Given the description of an element on the screen output the (x, y) to click on. 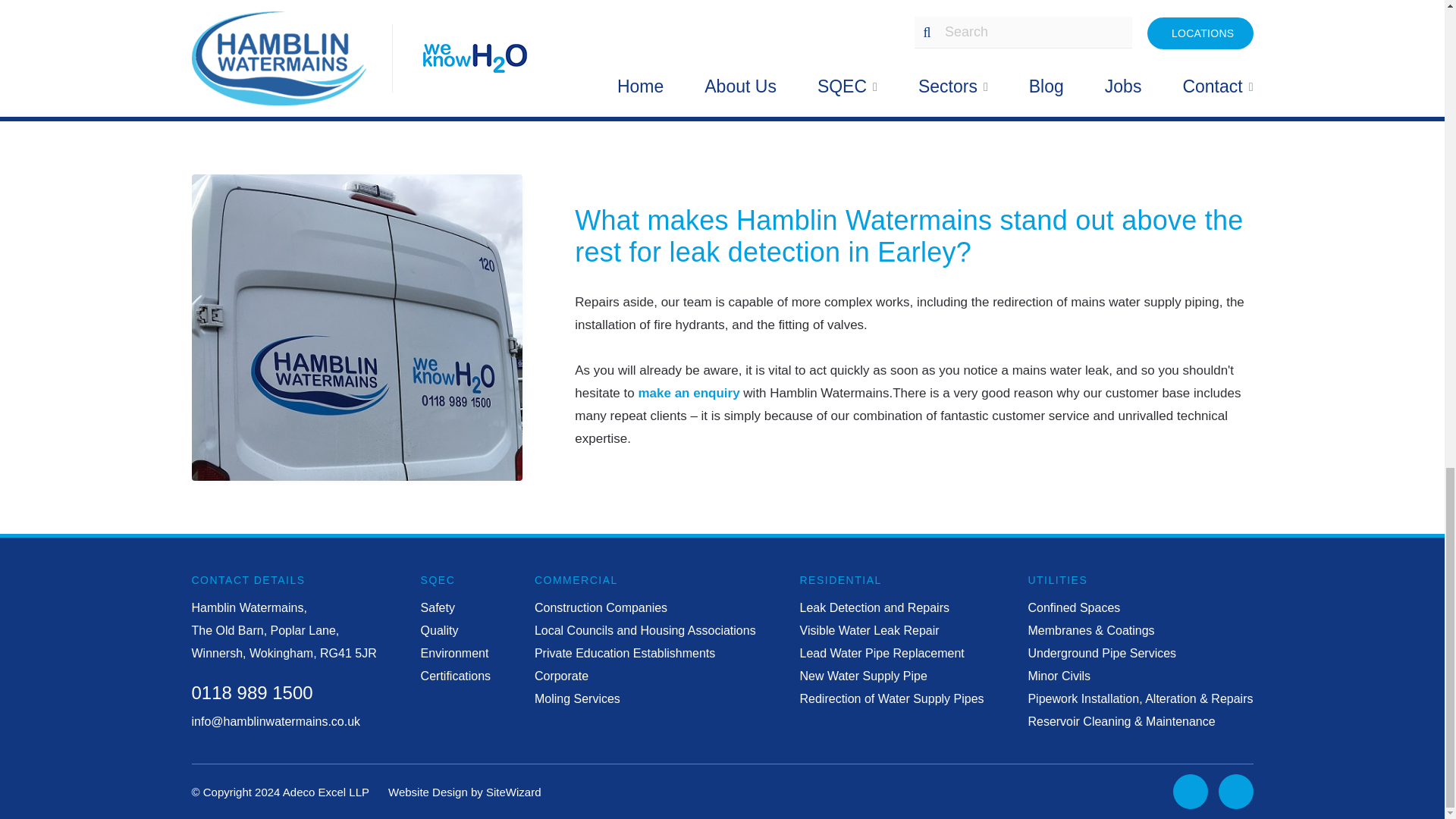
Environment (454, 653)
Visible Water Leak Repair (869, 630)
Corporate (561, 676)
New Water Supply Pipe (862, 676)
Quality (439, 630)
Construction Companies (600, 608)
Safety (437, 608)
Moling Services (577, 698)
minimises damage (959, 33)
Lead Water Pipe Replacement (881, 653)
